Given the description of an element on the screen output the (x, y) to click on. 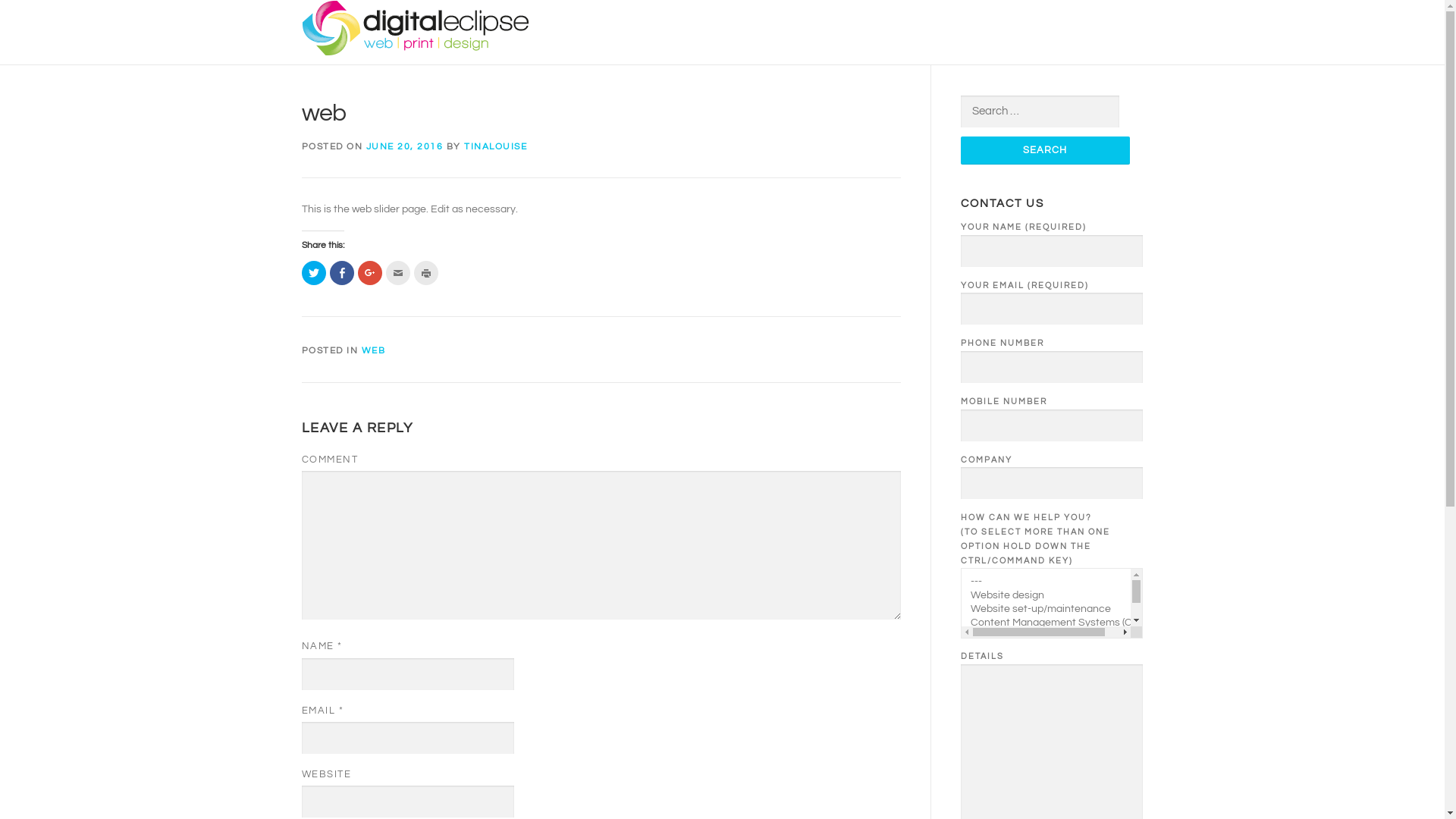
Click to share on Twitter (Opens in new window) Element type: text (313, 272)
Click to share on Google+ (Opens in new window) Element type: text (369, 272)
Click to share on Facebook (Opens in new window) Element type: text (341, 272)
Click to print (Opens in new window) Element type: text (426, 272)
WEB Element type: text (372, 350)
Click to email this to a friend (Opens in new window) Element type: text (397, 272)
TINALOUISE Element type: text (495, 146)
Search Element type: text (1044, 150)
JUNE 20, 2016 Element type: text (403, 146)
